Given the description of an element on the screen output the (x, y) to click on. 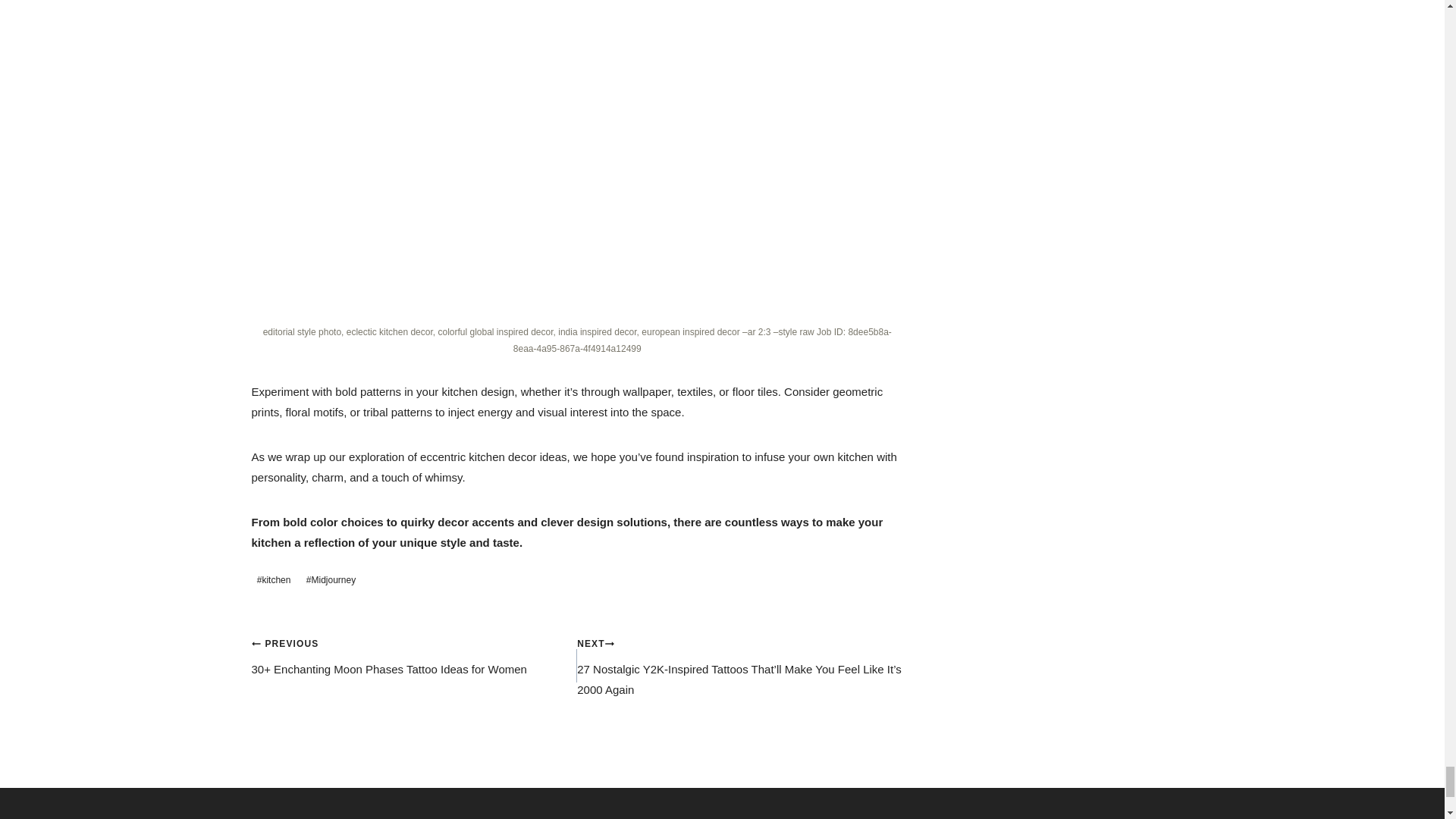
Midjourney (331, 580)
kitchen (274, 580)
